Given the description of an element on the screen output the (x, y) to click on. 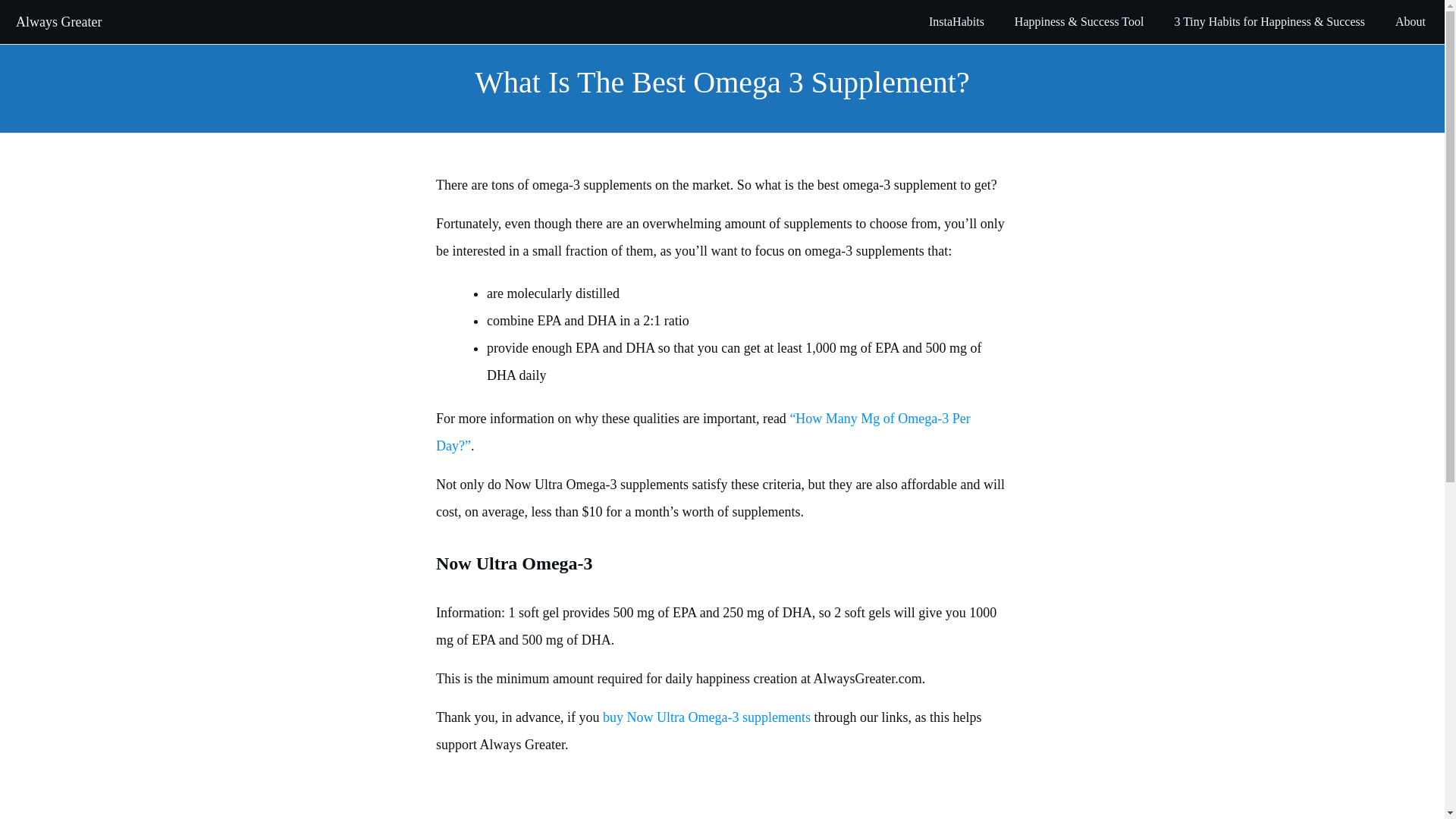
InstaHabits (956, 21)
How Many Mg of Omega 3 Per Day? (703, 432)
Always Greater (58, 21)
Now Ultra Omega-3 Supplements (703, 717)
buy Now Ultra Omega-3 supplements (703, 717)
About (1409, 21)
